Given the description of an element on the screen output the (x, y) to click on. 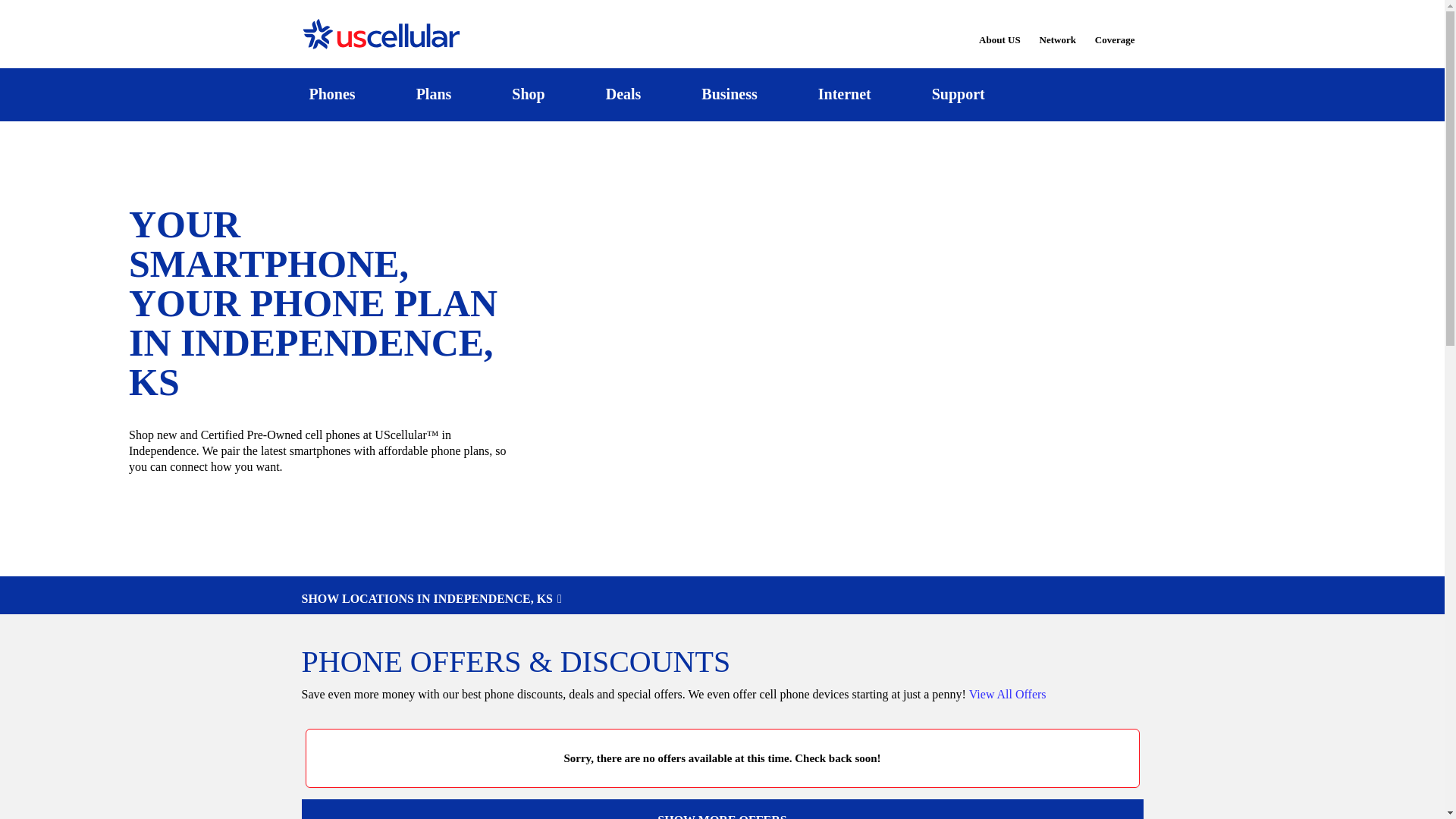
Business (729, 94)
Plans (433, 94)
Shop (528, 94)
SHOW LOCATIONS IN INDEPENDENCE, KS (722, 598)
Deals (623, 94)
Phones (332, 94)
Coverage (1115, 29)
About US (999, 30)
Support (957, 94)
Network (1057, 30)
Internet (844, 94)
